Given the description of an element on the screen output the (x, y) to click on. 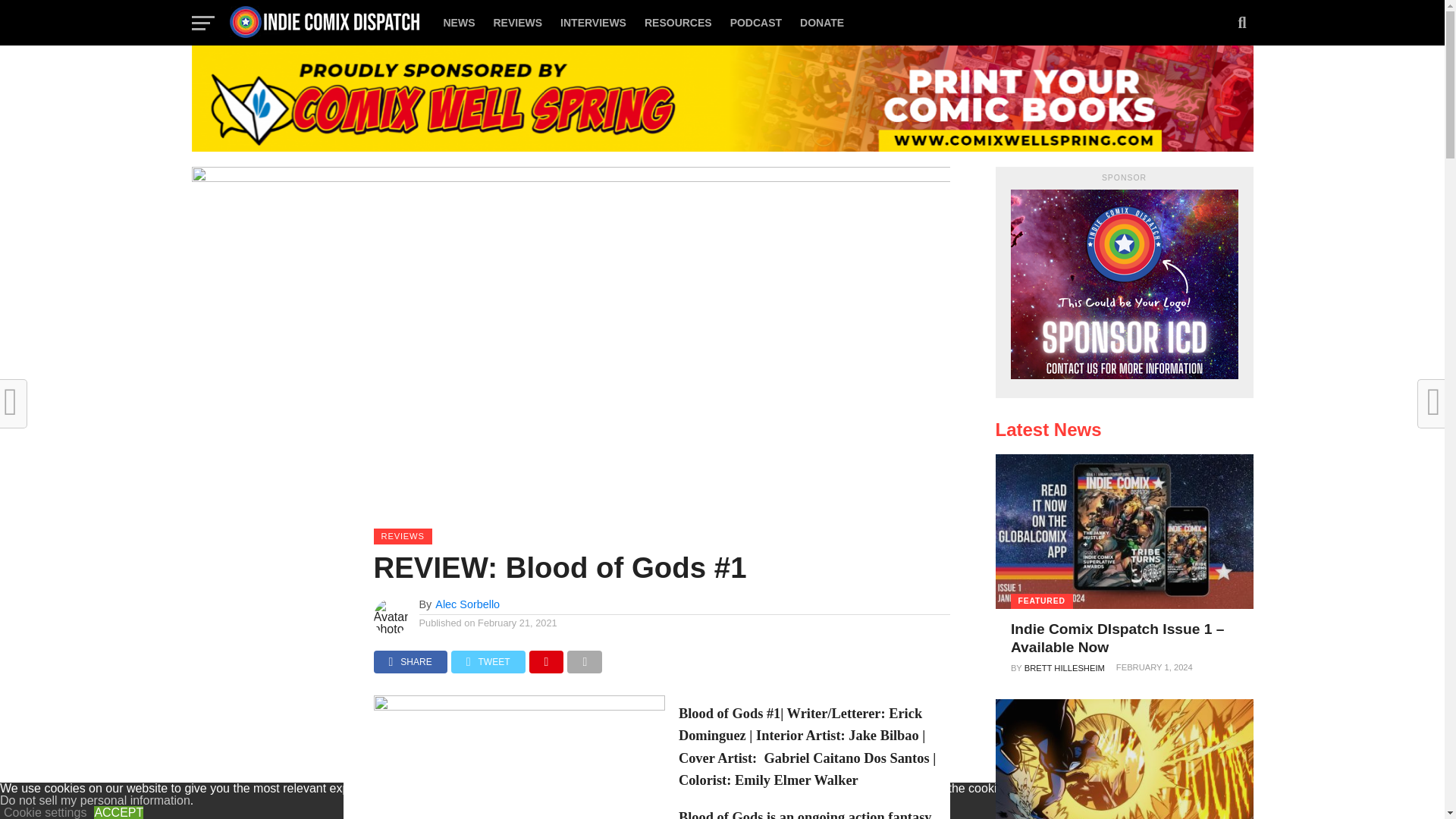
Alec Sorbello (467, 604)
PODCAST (755, 22)
Posts by Alec Sorbello (467, 604)
INTERVIEWS (592, 22)
RESOURCES (677, 22)
DONATE (821, 22)
NEWS (458, 22)
REVIEWS (517, 22)
